Given the description of an element on the screen output the (x, y) to click on. 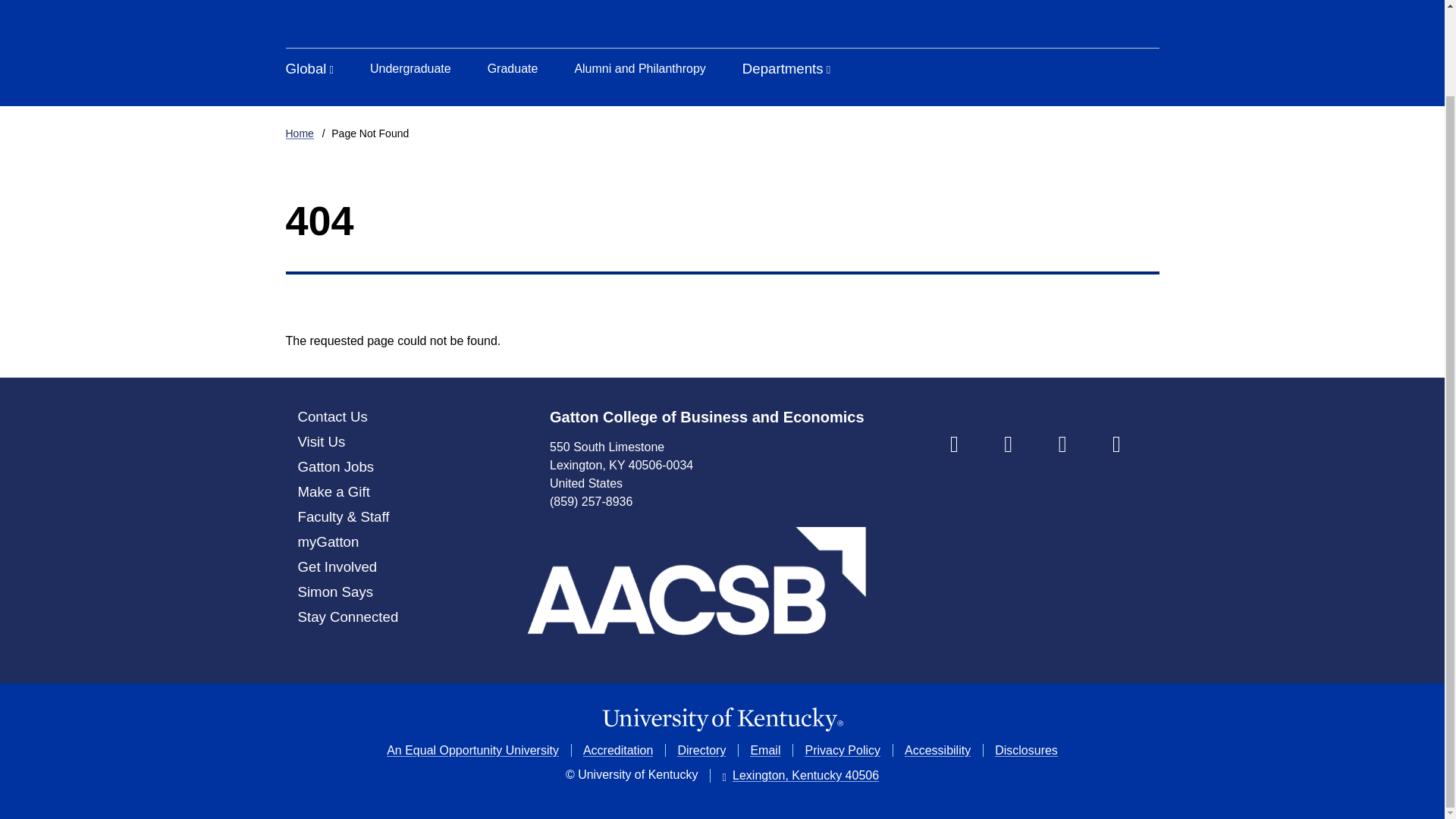
Global (309, 68)
An Equal Opportunity University (473, 749)
Stay Connected (347, 616)
Graduate (512, 68)
Undergraduate (410, 68)
Get Involved (337, 566)
Visit Us (321, 441)
myGatton (327, 541)
Alumni and Philanthropy (638, 68)
Simon Says (334, 591)
